Given the description of an element on the screen output the (x, y) to click on. 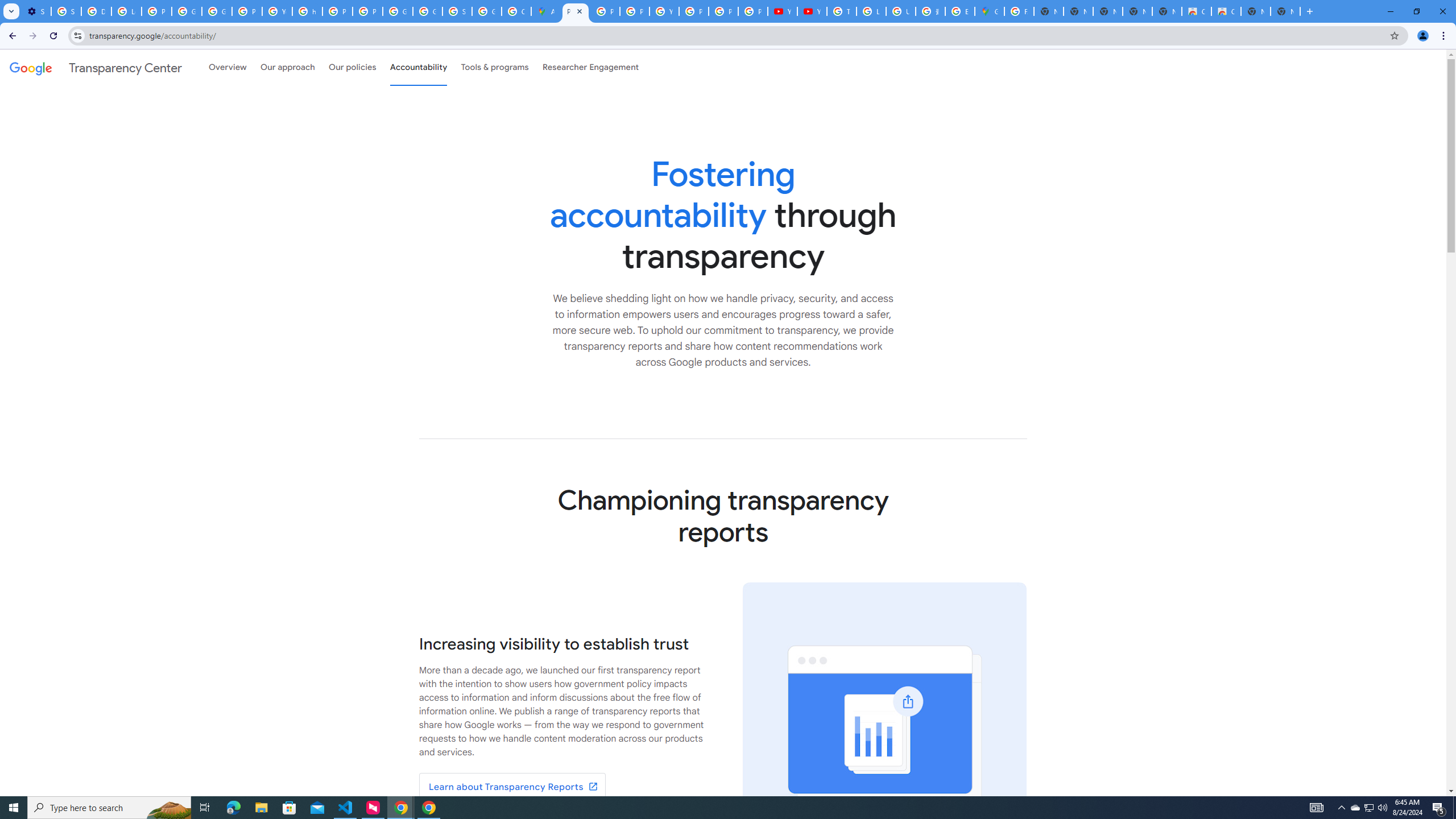
YouTube (782, 11)
Our approach (287, 67)
Settings - On startup (36, 11)
Tips & tricks for Chrome - Google Chrome Help (841, 11)
Privacy Help Center - Policies Help (604, 11)
Classic Blue - Chrome Web Store (1226, 11)
